Given the description of an element on the screen output the (x, y) to click on. 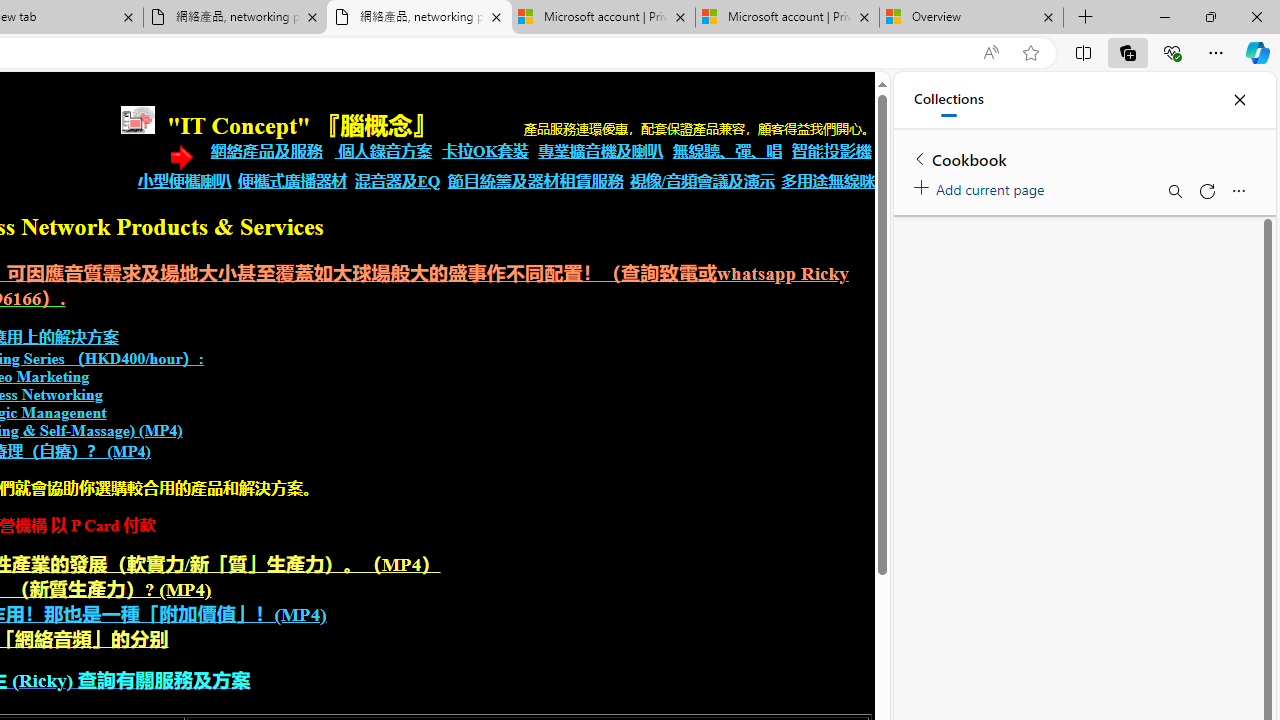
Overview (971, 17)
Back to list of collections (920, 158)
